Given the description of an element on the screen output the (x, y) to click on. 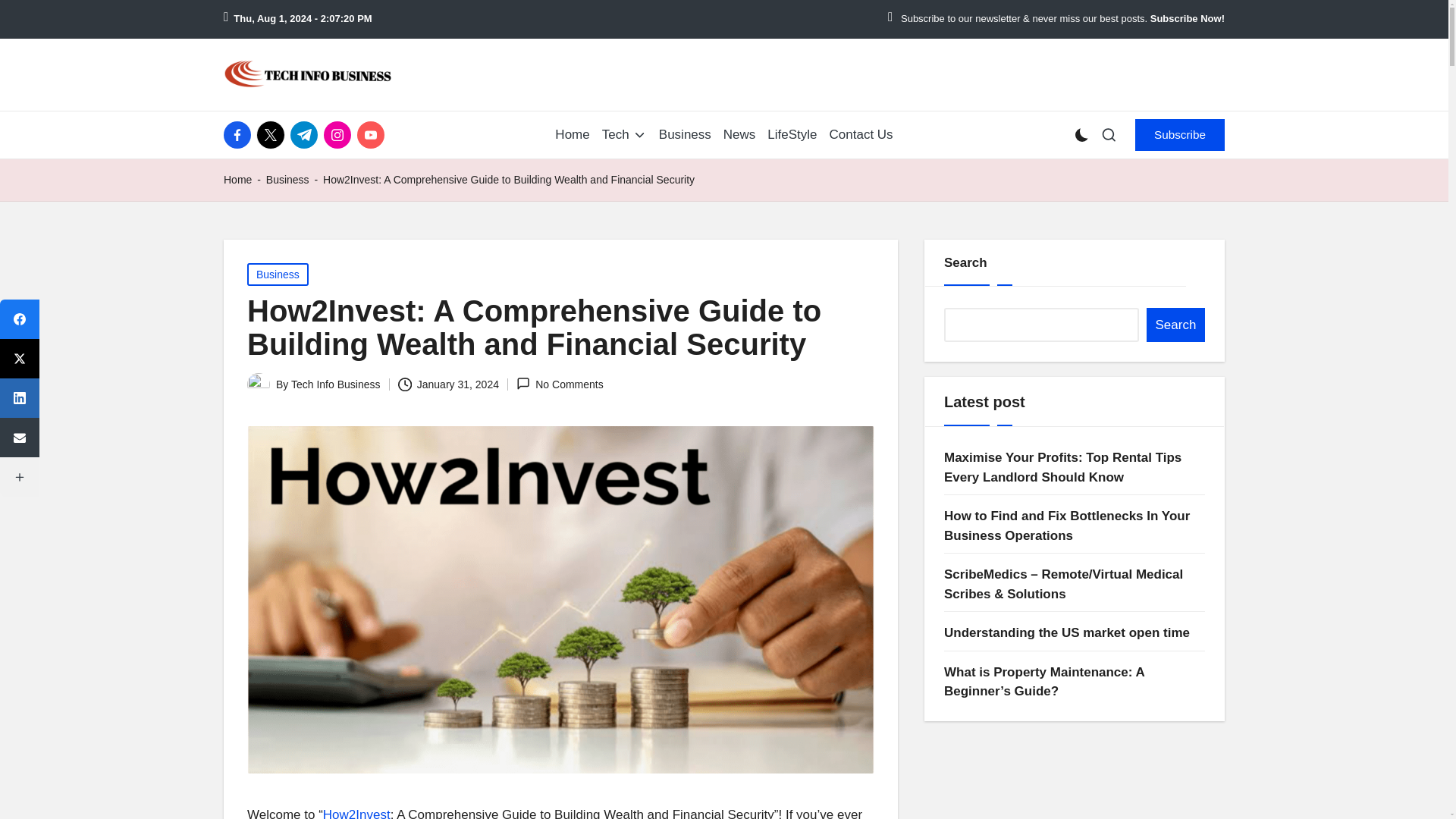
View all posts by Tech Info Business (335, 384)
Home (237, 179)
Business (685, 134)
youtube.com (373, 134)
facebook.com (240, 134)
Subscribe (1179, 134)
twitter.com (273, 134)
instagram.com (339, 134)
Tech (624, 134)
t.me (306, 134)
Business (287, 179)
LifeStyle (791, 134)
Contact Us (861, 134)
Subscribe Now! (1187, 18)
